Given the description of an element on the screen output the (x, y) to click on. 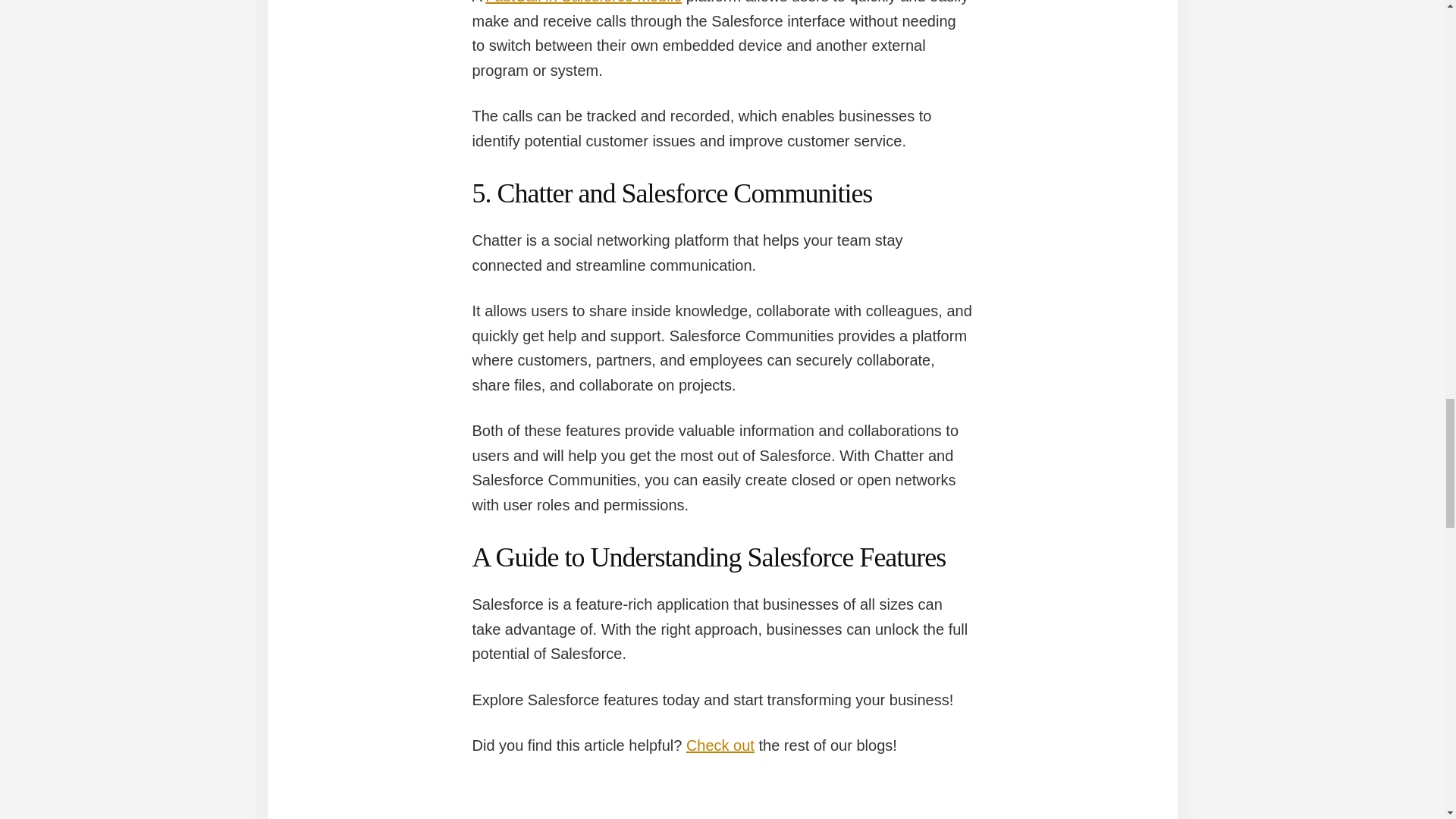
FastCall in Salesforce mobile (582, 2)
Check out (719, 745)
